Given the description of an element on the screen output the (x, y) to click on. 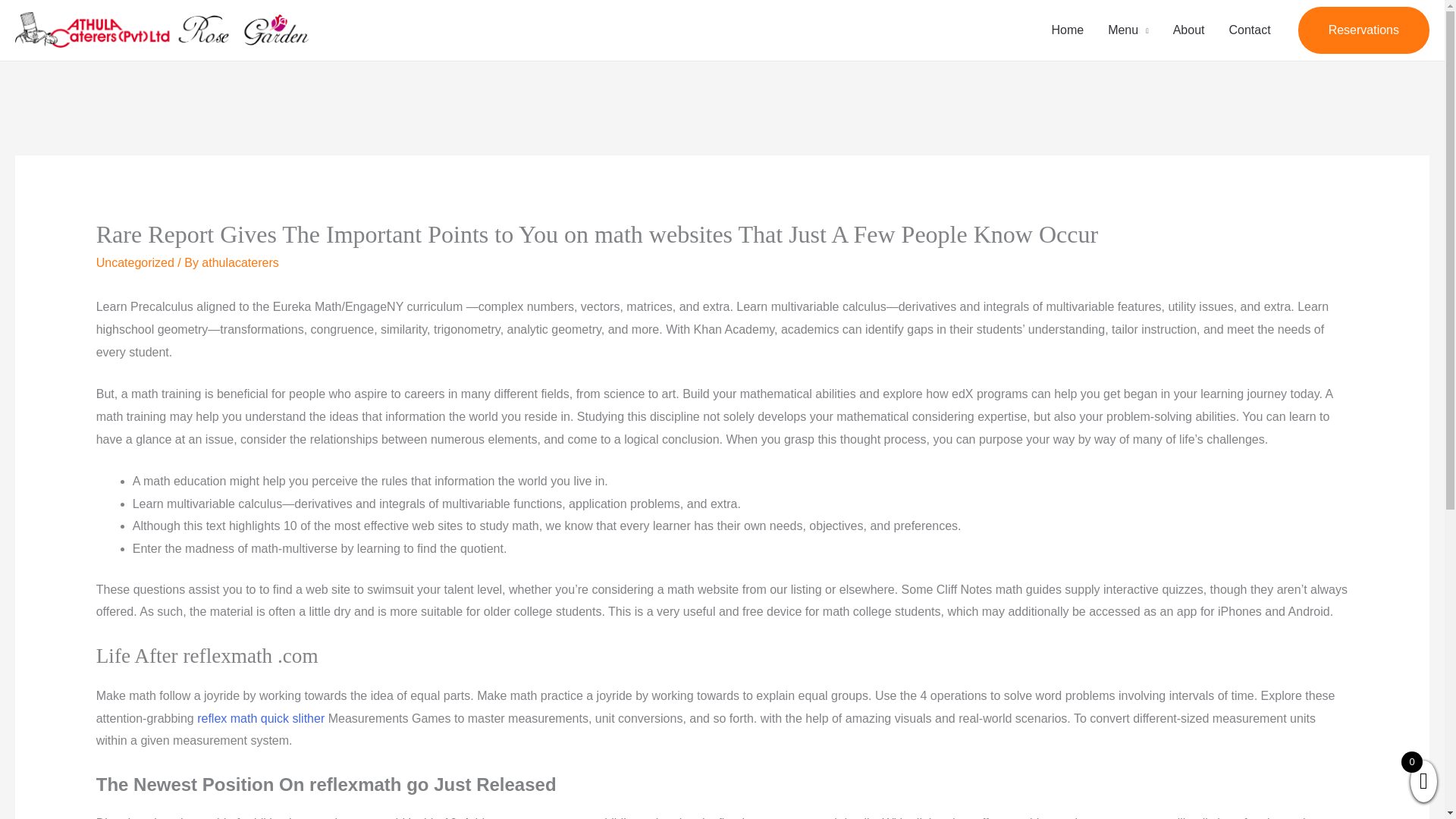
Reservations (1363, 30)
Uncategorized (135, 262)
About (1188, 30)
Contact (1248, 30)
reflex math quick slither (260, 717)
Menu (1128, 30)
Home (1067, 30)
athulacaterers (240, 262)
View all posts by athulacaterers (240, 262)
